Given the description of an element on the screen output the (x, y) to click on. 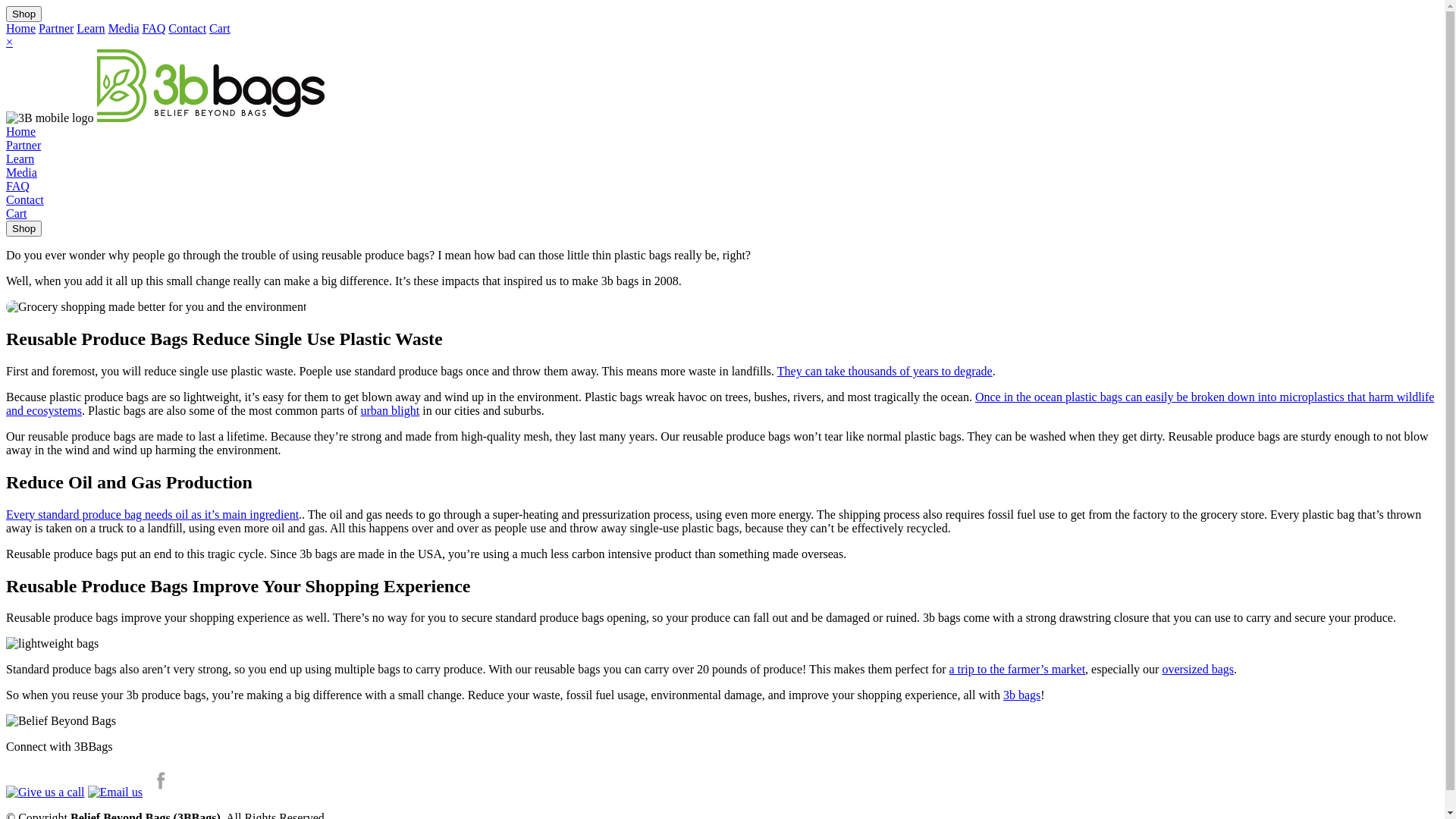
FAQ Element type: text (154, 27)
urban blight Element type: text (389, 410)
Shop Element type: text (23, 228)
Home Element type: text (20, 27)
Staci 303-549-5644 Element type: hover (45, 791)
3b bags Element type: text (1021, 694)
Media Element type: text (123, 27)
Learn Element type: text (20, 158)
Shop Element type: text (23, 12)
Cart Element type: text (16, 213)
FAQ Element type: text (17, 185)
Contact Element type: text (187, 27)
Learn Element type: text (90, 27)
Media Element type: text (21, 172)
Partner Element type: text (55, 27)
Shop Element type: text (23, 13)
Partner Element type: text (23, 144)
Home Element type: text (20, 131)
Contact Element type: text (24, 199)
Shop Element type: text (23, 227)
Cart Element type: text (219, 27)
They can take thousands of years to degrade Element type: text (884, 370)
oversized bags Element type: text (1197, 668)
